Given the description of an element on the screen output the (x, y) to click on. 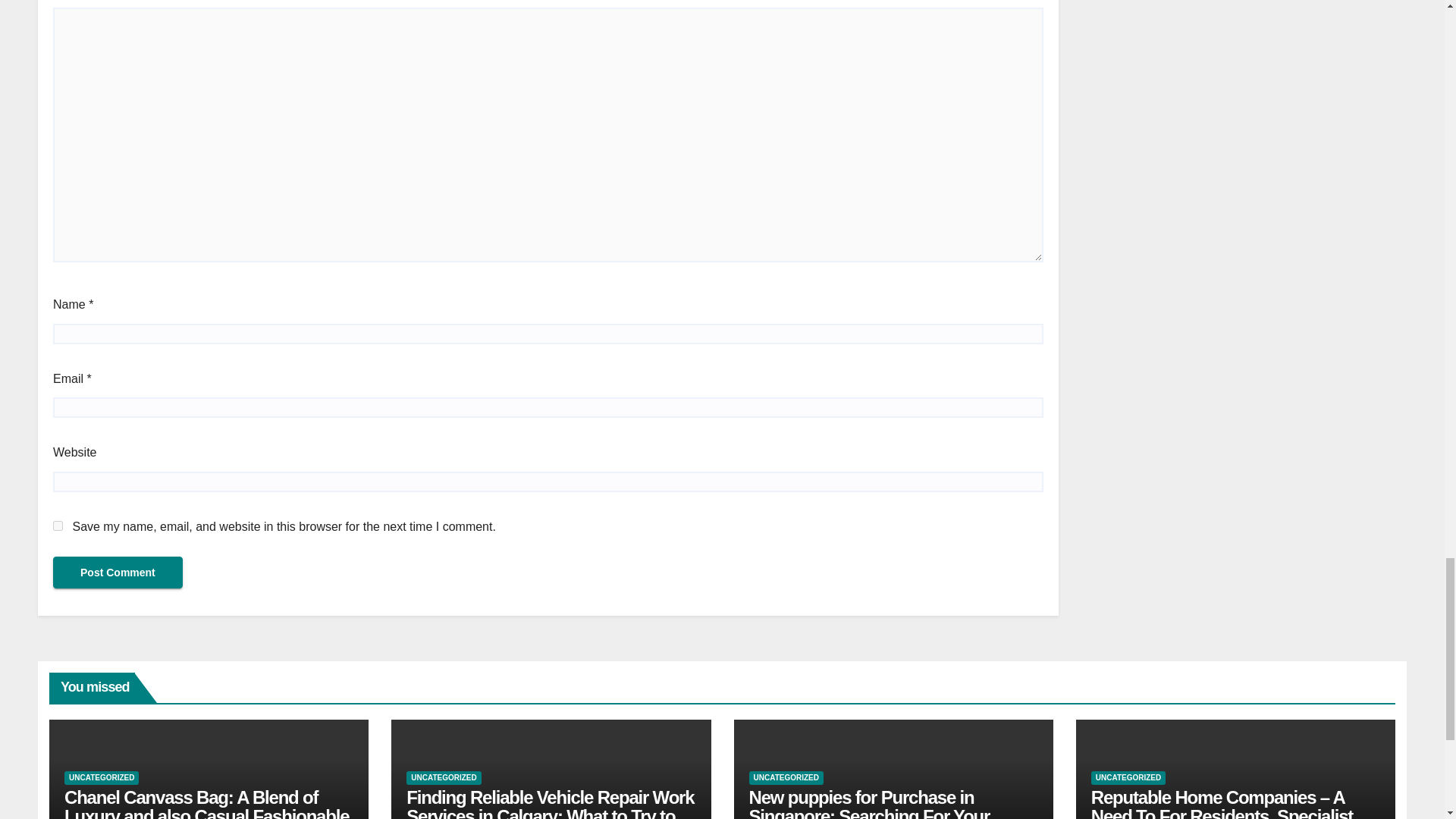
Post Comment (117, 572)
yes (57, 525)
